Given the description of an element on the screen output the (x, y) to click on. 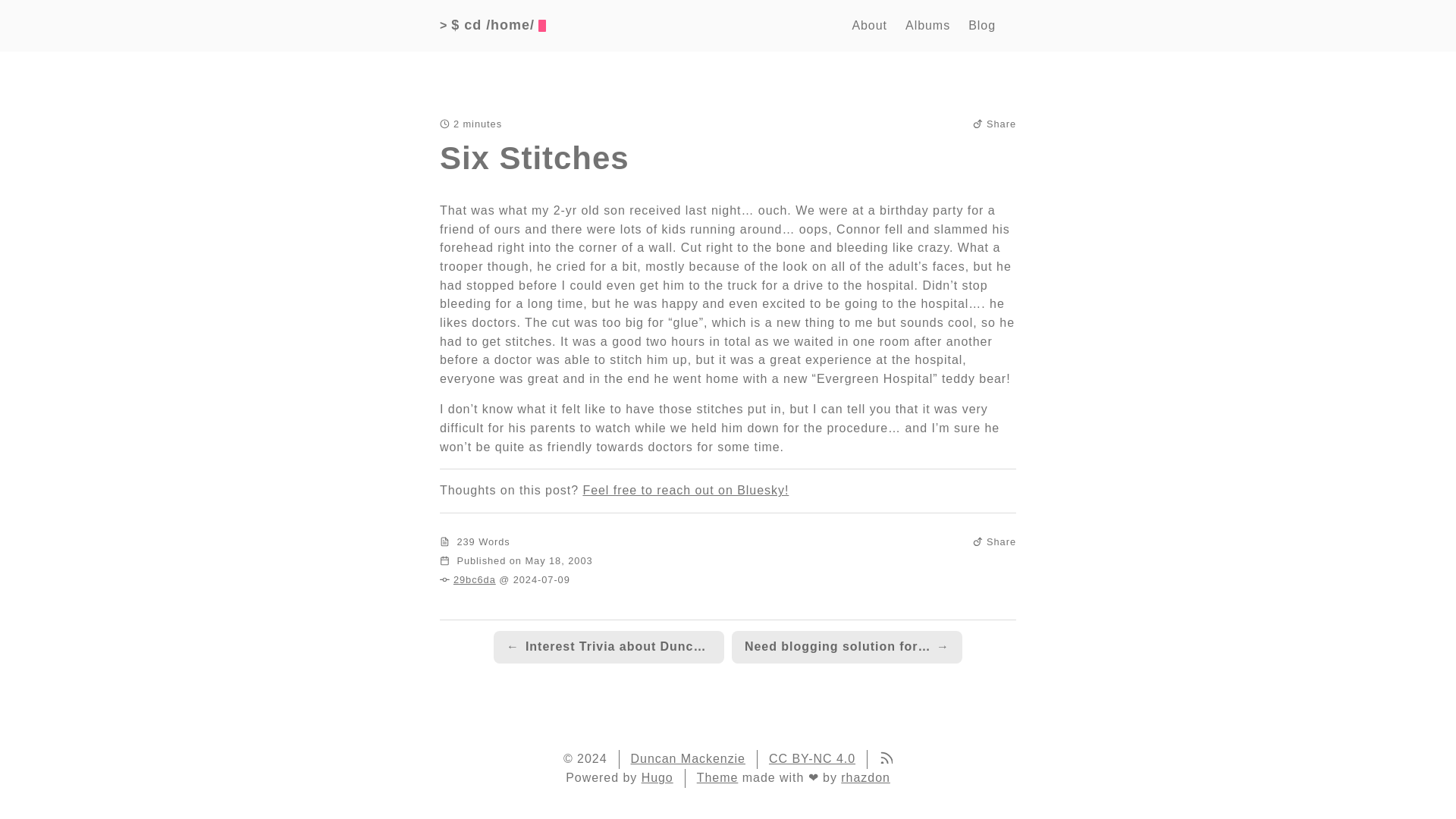
Feel free to reach out on Bluesky! (685, 490)
Share (994, 123)
Blog (981, 26)
About (868, 26)
Share (994, 541)
29bc6da (474, 579)
Albums (927, 26)
CC BY-NC 4.0 (812, 758)
Hugo (657, 777)
rss (885, 758)
